Given the description of an element on the screen output the (x, y) to click on. 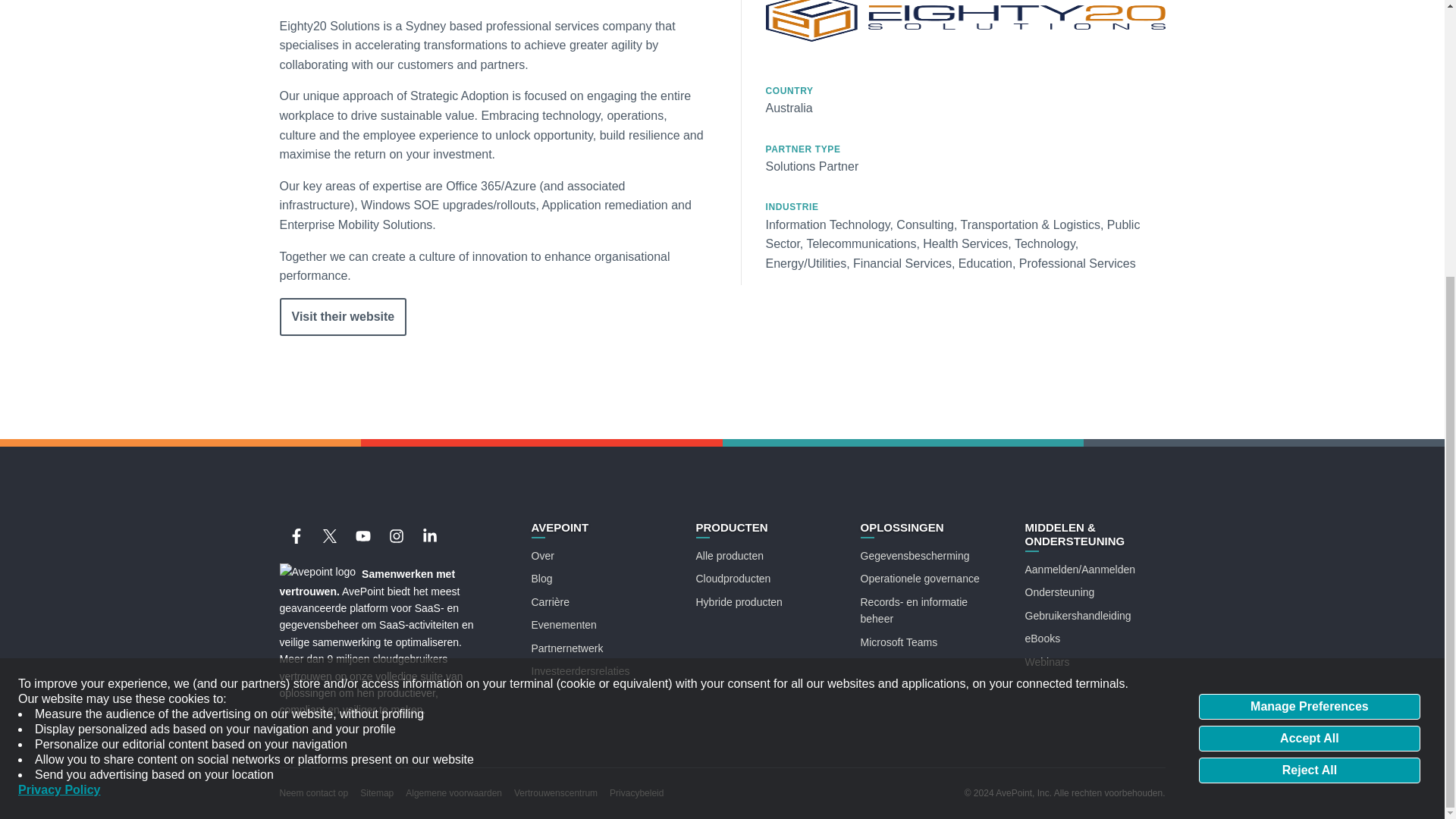
Accept All (1309, 329)
Manage Preferences (1309, 298)
Reject All (1309, 361)
Privacy Policy (58, 381)
